Given the description of an element on the screen output the (x, y) to click on. 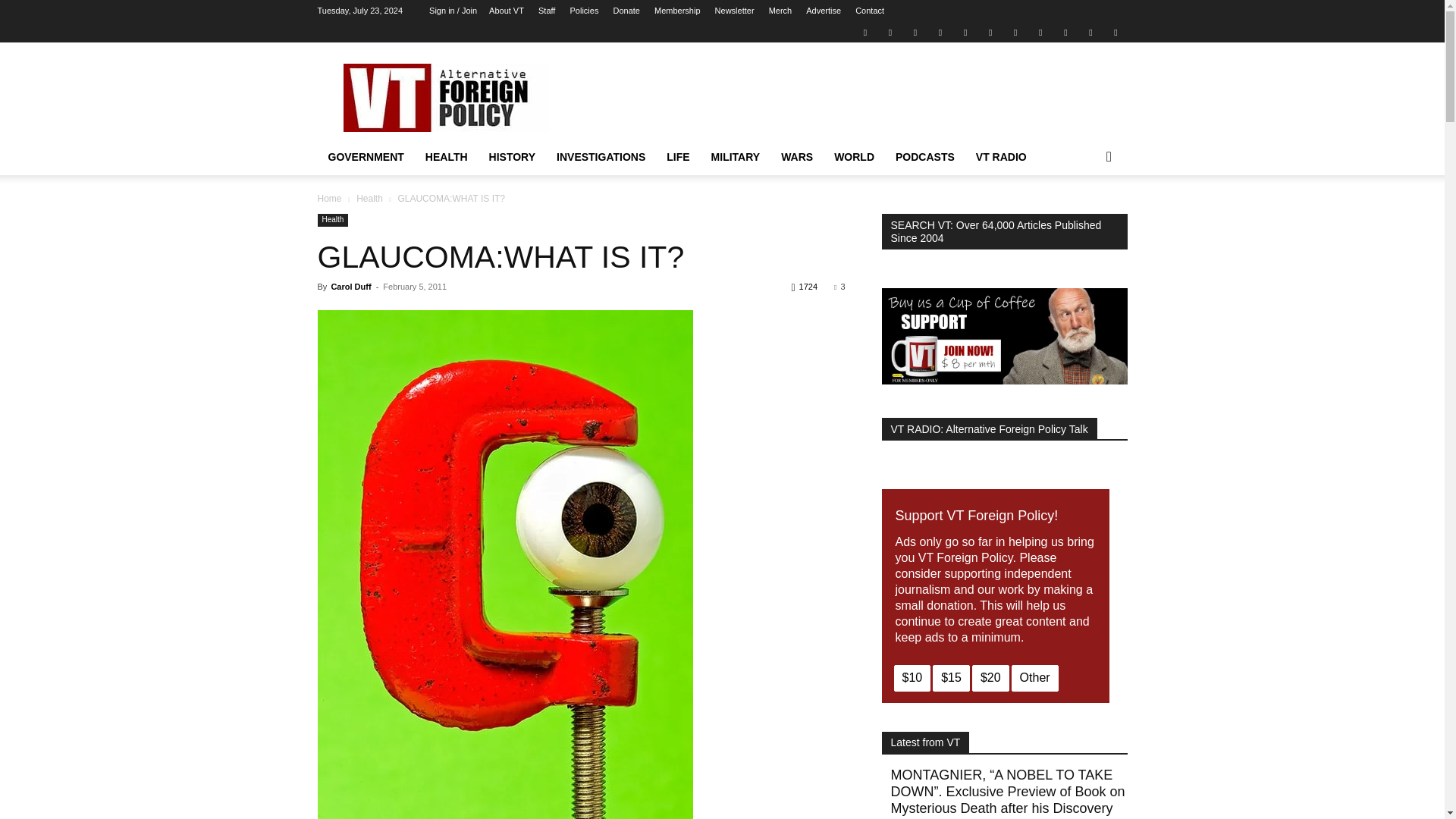
Newsletter (734, 10)
Membership (676, 10)
Policies (583, 10)
About VT (506, 10)
Facebook (890, 31)
Staff (546, 10)
Contact (869, 10)
Reddit (940, 31)
Advertise (823, 10)
Merch (780, 10)
Donate (625, 10)
Mail (915, 31)
Blogger (864, 31)
Rumble (964, 31)
